Given the description of an element on the screen output the (x, y) to click on. 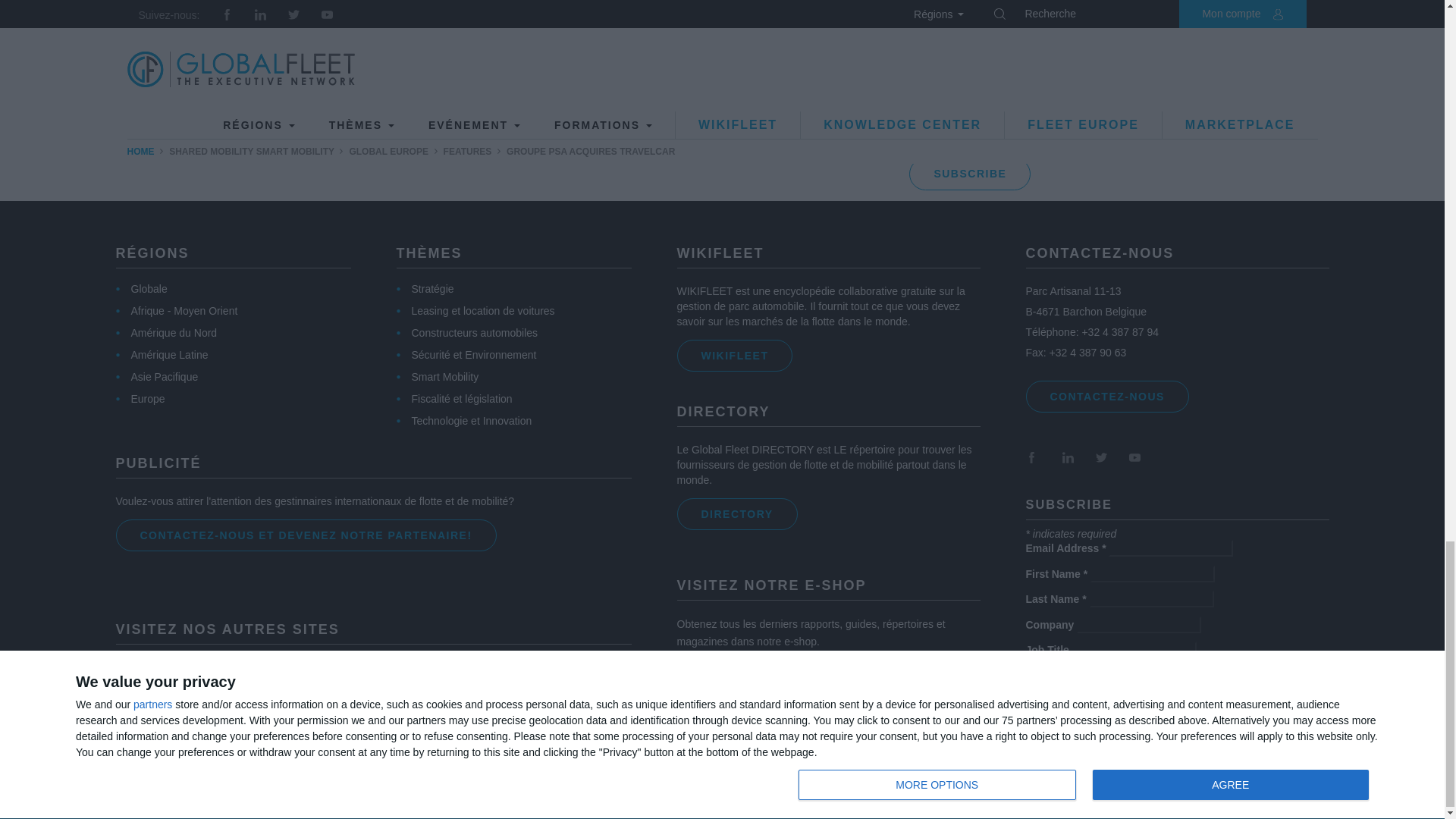
Subscribe (969, 174)
Subscribe (1086, 718)
Smartmobility logo (427, 676)
Nexus logo (139, 398)
Fleeteurope logo (233, 733)
Contact globalfleet (206, 688)
Nexus logo (1106, 396)
Fleeteurope logo (233, 732)
